Given the description of an element on the screen output the (x, y) to click on. 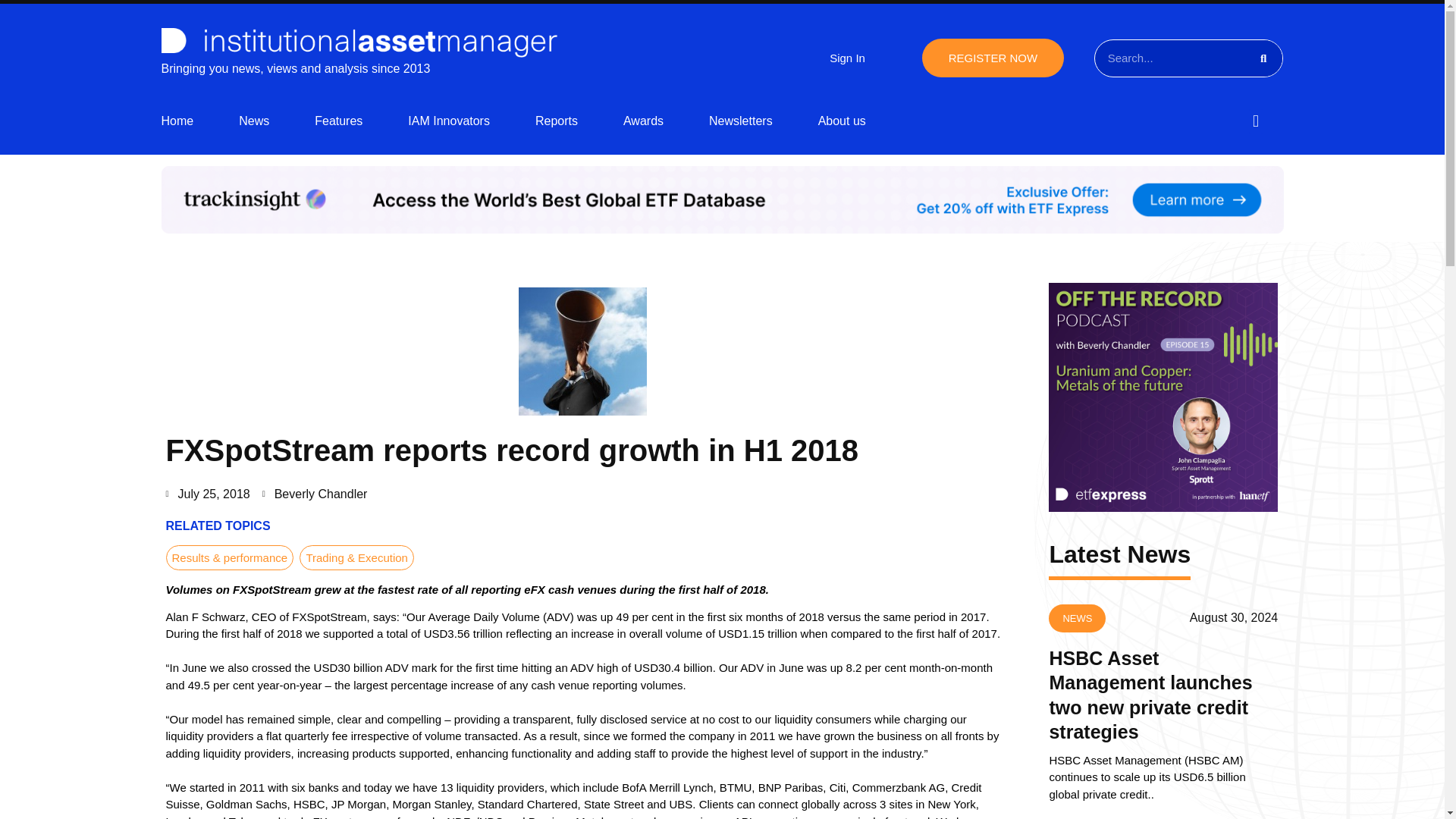
Features (338, 121)
Home (176, 121)
Newsletters (741, 121)
Reports (556, 121)
About us (842, 121)
REGISTER NOW (992, 57)
Awards (643, 121)
Sign In (847, 57)
IAM Innovators (448, 121)
